Given the description of an element on the screen output the (x, y) to click on. 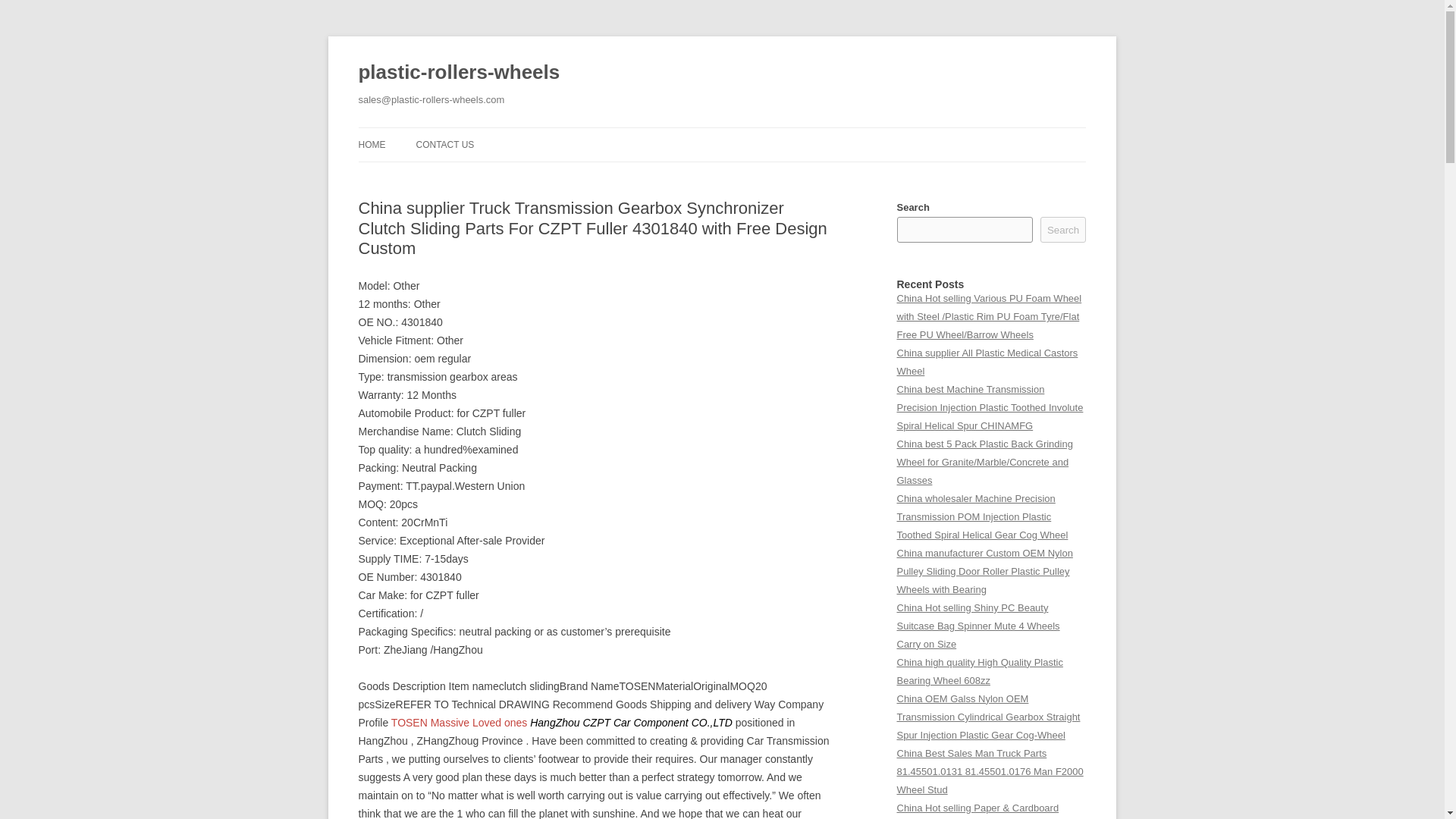
China high quality High Quality Plastic Bearing Wheel 608zz (979, 671)
China supplier All Plastic Medical Castors Wheel (986, 361)
CONTACT US (444, 144)
Search (1063, 229)
plastic-rollers-wheels (458, 72)
